Given the description of an element on the screen output the (x, y) to click on. 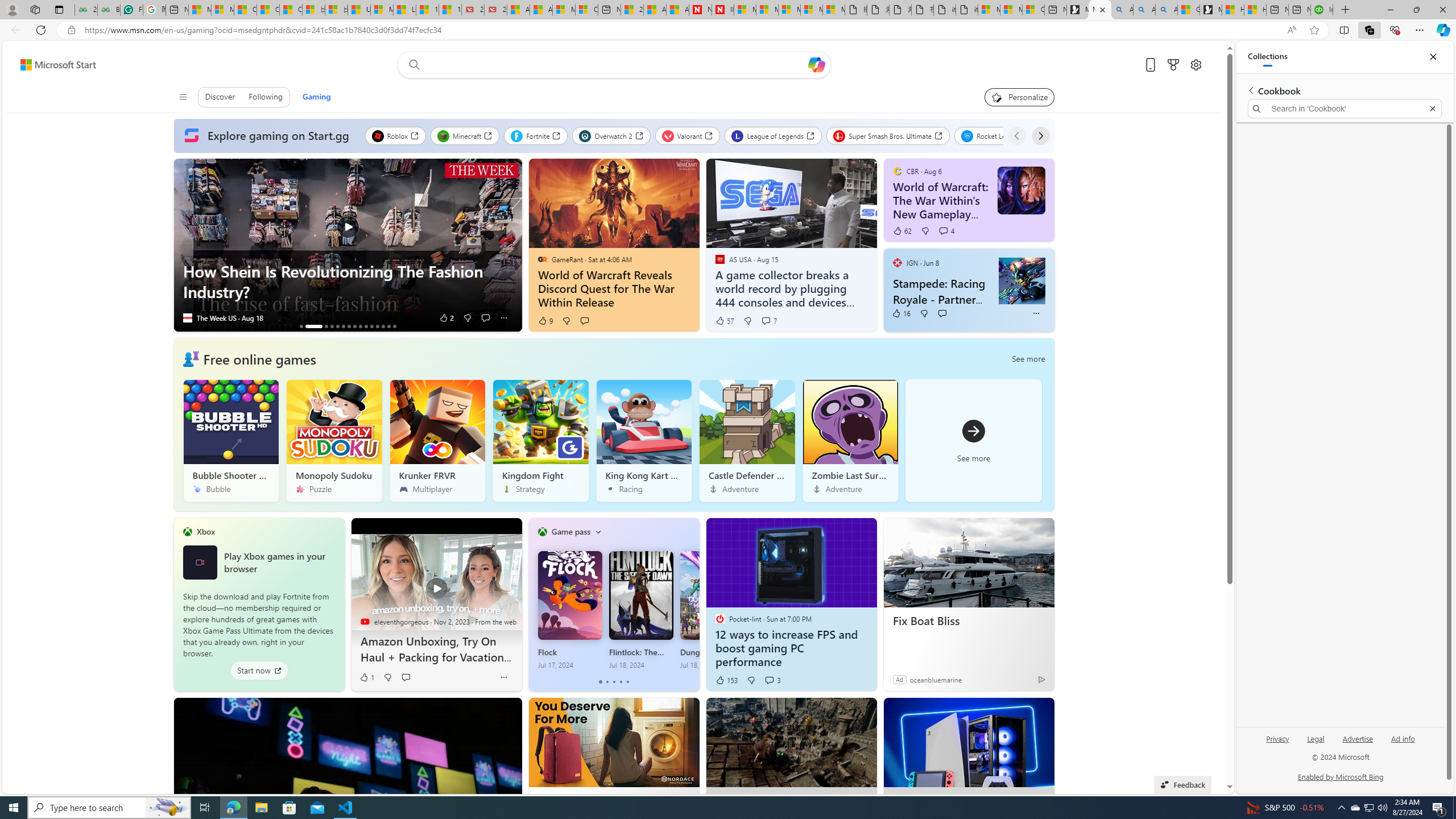
How Shein Is Revolutionizing The Fashion Industry? (312, 326)
Amazon Unboxing, Try On Haul + Packing for Vacation Vlog (436, 582)
Microsoft Services Agreement (767, 9)
Monopoly Sudoku (333, 440)
CYGNI: All Guns Blazing | Official Launch Trailer (331, 326)
GameRant (542, 258)
16 Like (900, 313)
Personalize your feed" (1019, 97)
